Given the description of an element on the screen output the (x, y) to click on. 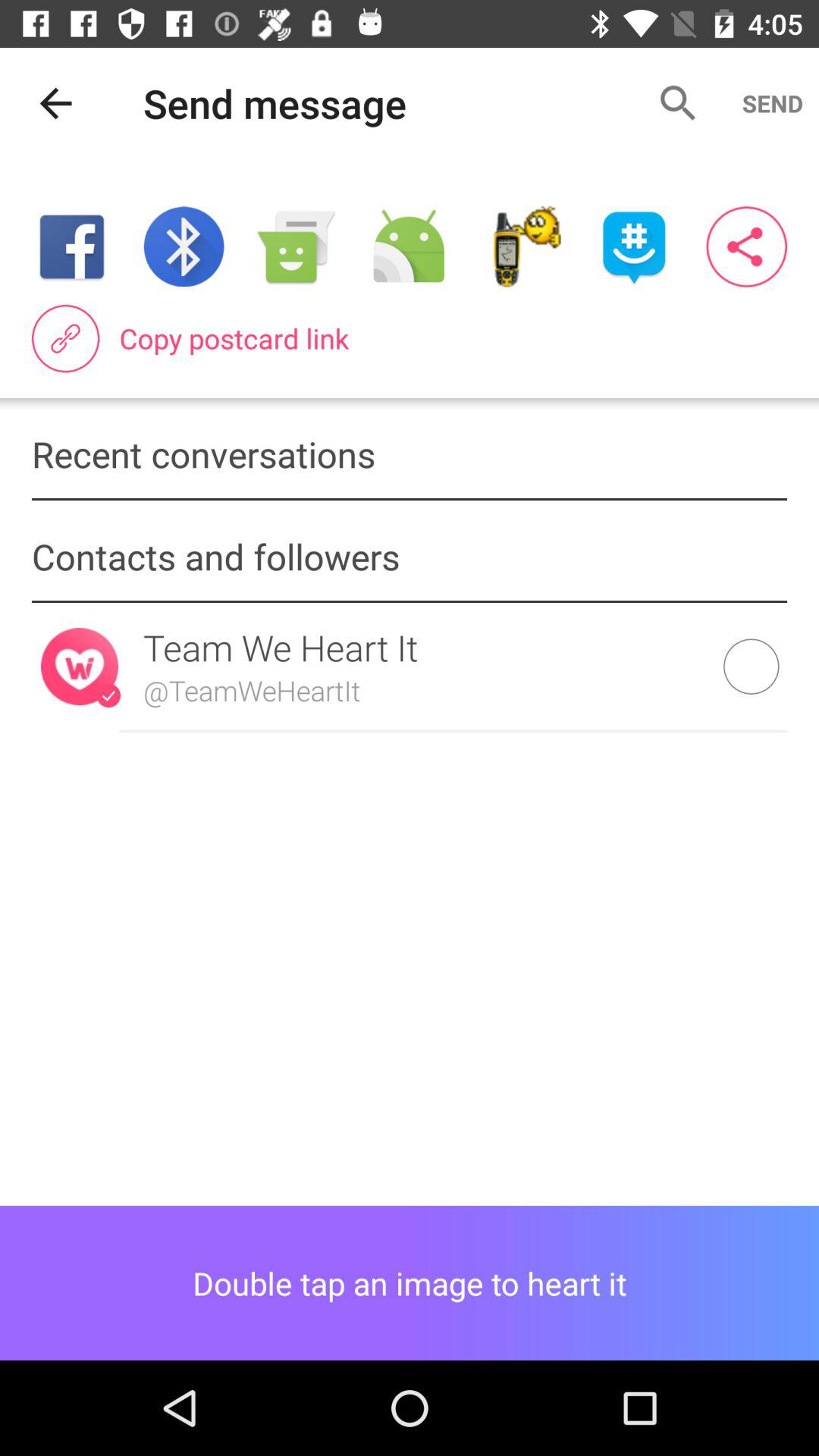
bluetooth on/off (183, 246)
